Given the description of an element on the screen output the (x, y) to click on. 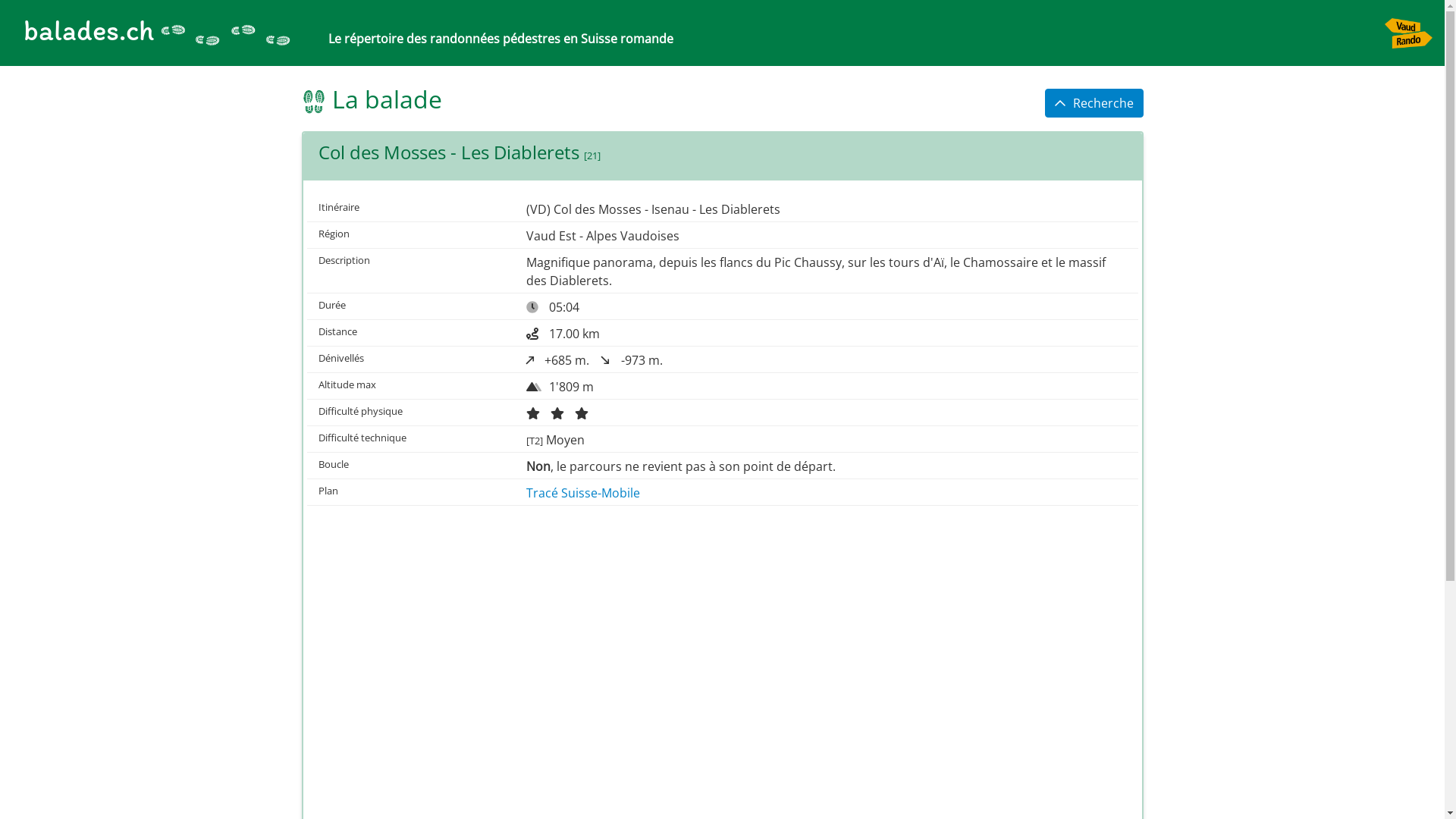
Association Vaud Rando Element type: hover (1408, 33)
Recherche Element type: text (1093, 102)
Association Vaud Rando Element type: hover (225, 33)
Association Vaud Rando Element type: hover (313, 101)
balades.ch Element type: text (151, 32)
